Given the description of an element on the screen output the (x, y) to click on. 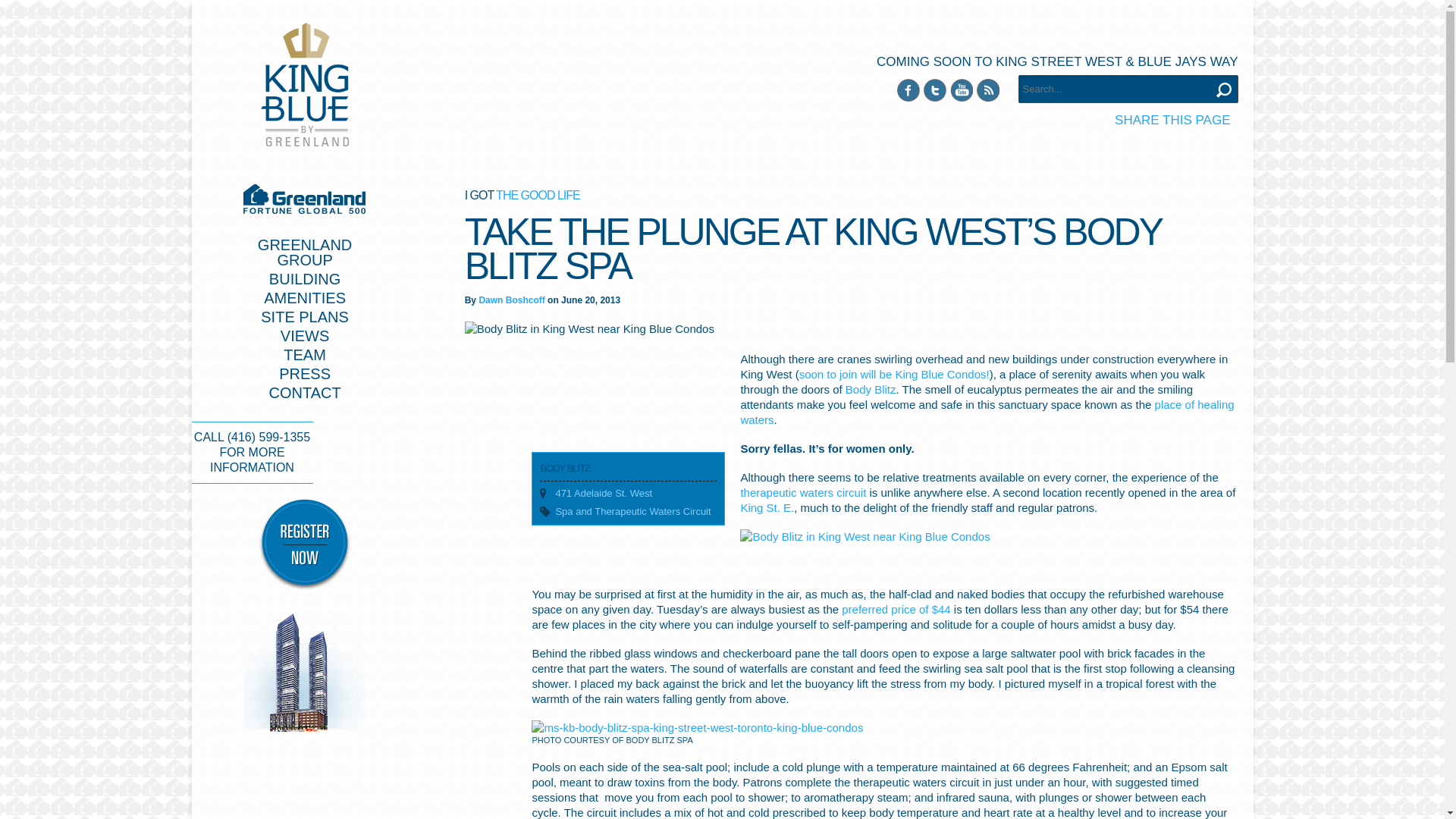
King Blue Condominiums (304, 84)
AMENITIES (304, 297)
Body Blitz in King West near King Blue Condos (864, 536)
soon to join will be King Blue Condos! (894, 373)
RSS Feed (987, 89)
PRESS (304, 373)
place of healing waters (986, 411)
search (1223, 89)
King Blue Condominiums (304, 84)
SITE PLANS (304, 316)
Twitter (304, 252)
Dawn Boshcoff (934, 89)
CONTACT (511, 299)
Register Now for King Blue (303, 392)
